Given the description of an element on the screen output the (x, y) to click on. 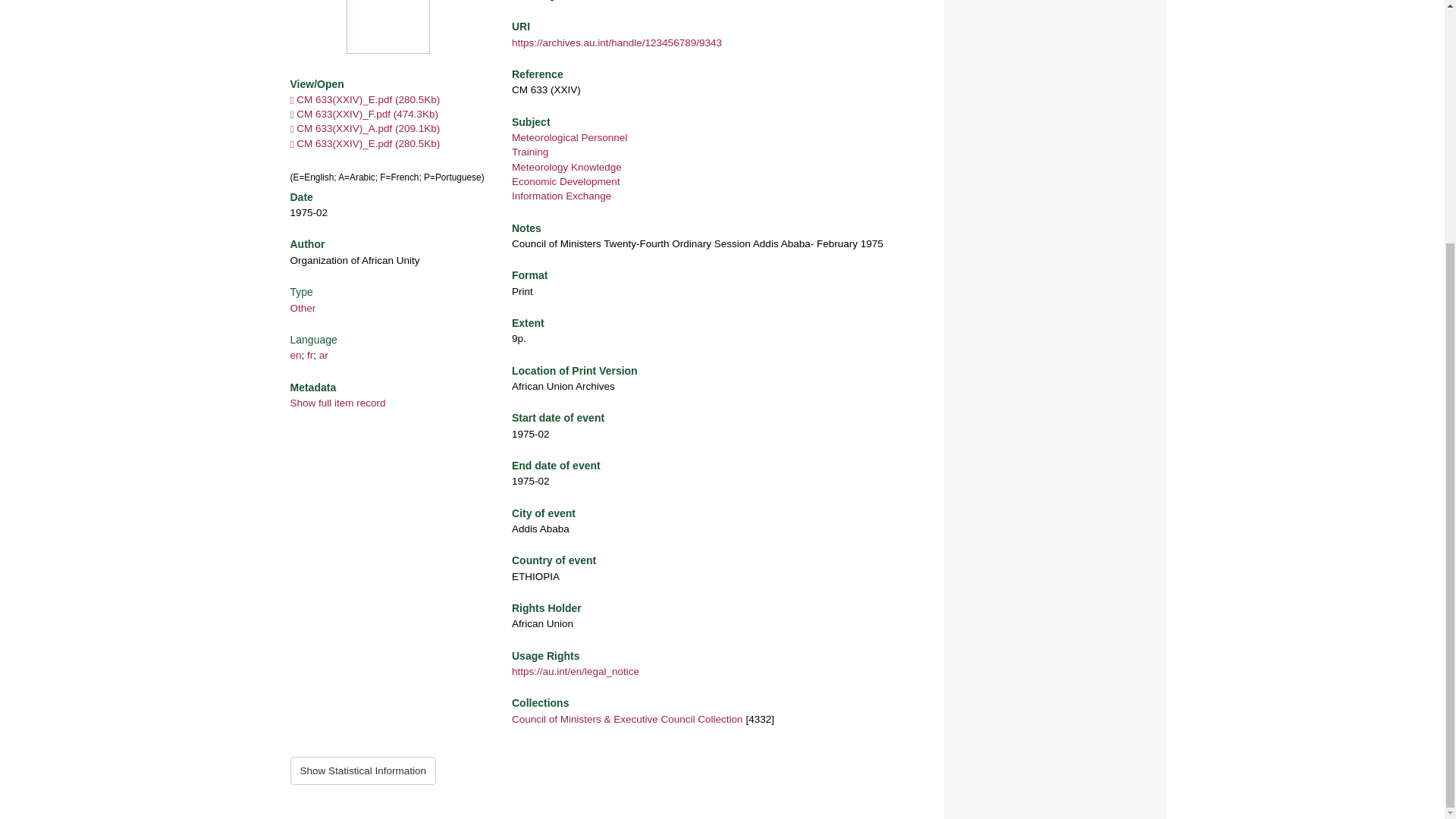
Information Exchange (561, 195)
Show Statistical Information (362, 770)
en (295, 355)
Economic Development (566, 181)
Other (302, 307)
Meteorological Personnel (569, 137)
Show full item record (337, 402)
Meteorology Knowledge (566, 166)
Training (530, 152)
